Given the description of an element on the screen output the (x, y) to click on. 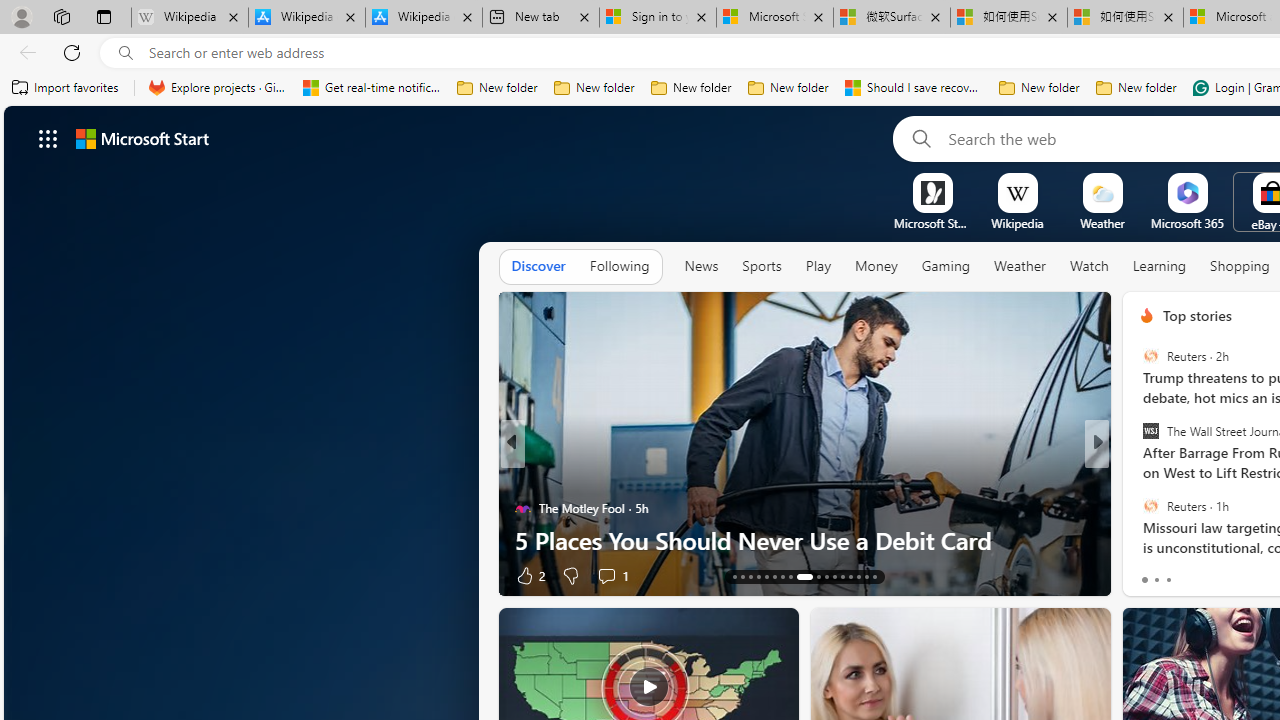
View comments 4 Comment (1229, 575)
Sports (761, 265)
AutomationID: tab-21 (797, 576)
GOBankingRates (1138, 475)
Microsoft Start Gaming (932, 223)
Watch (1089, 265)
Should I save recovered Word documents? - Microsoft Support (913, 88)
AutomationID: tab-17 (765, 576)
AutomationID: tab-25 (842, 576)
Shopping (1240, 265)
Play (817, 265)
12 Like (1149, 574)
App launcher (47, 138)
tab-1 (1156, 579)
